Given the description of an element on the screen output the (x, y) to click on. 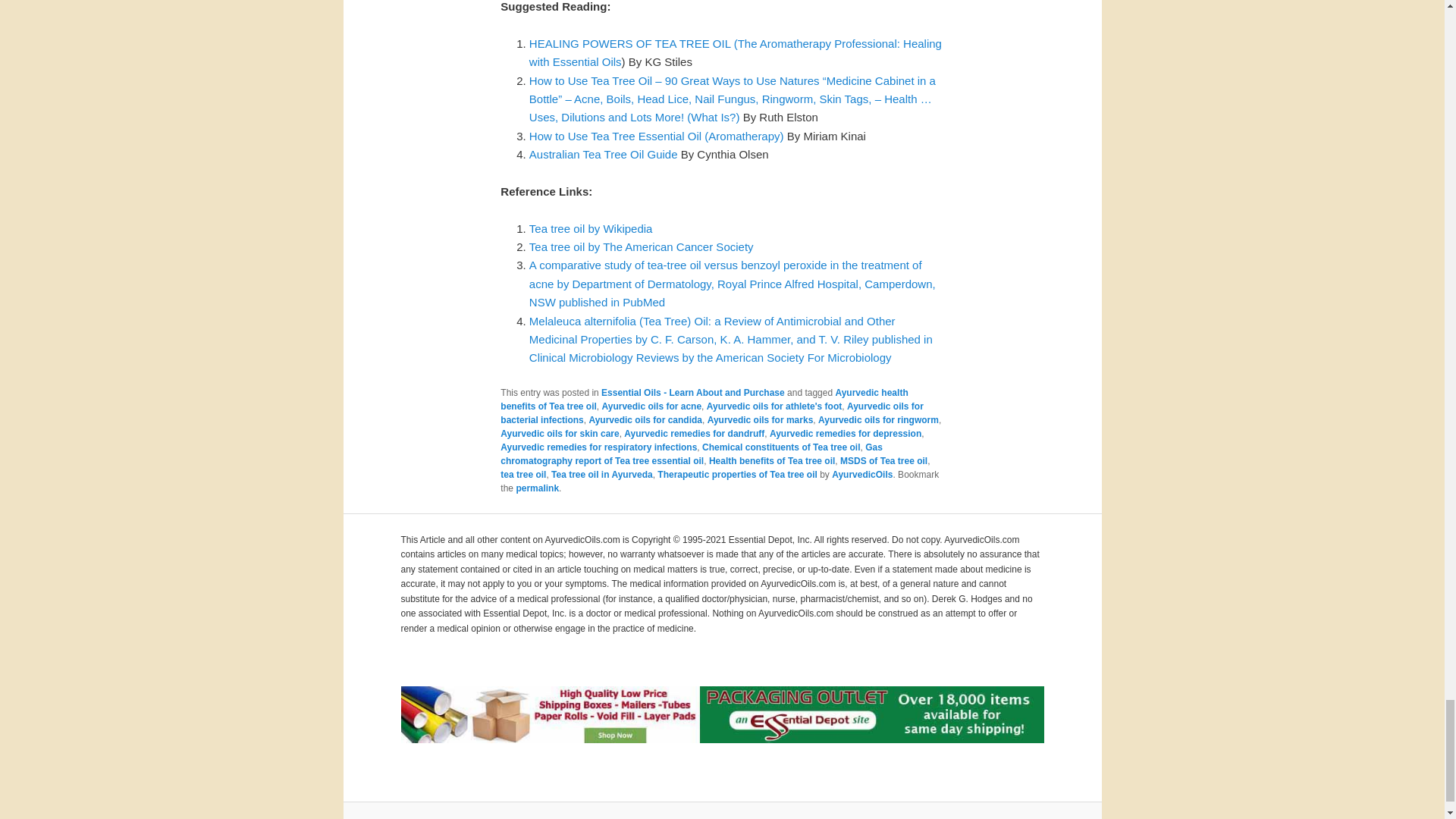
Australian Tea Tree Oil Guide (603, 154)
Permalink to Tea Tree Essential Oil (537, 488)
